Given the description of an element on the screen output the (x, y) to click on. 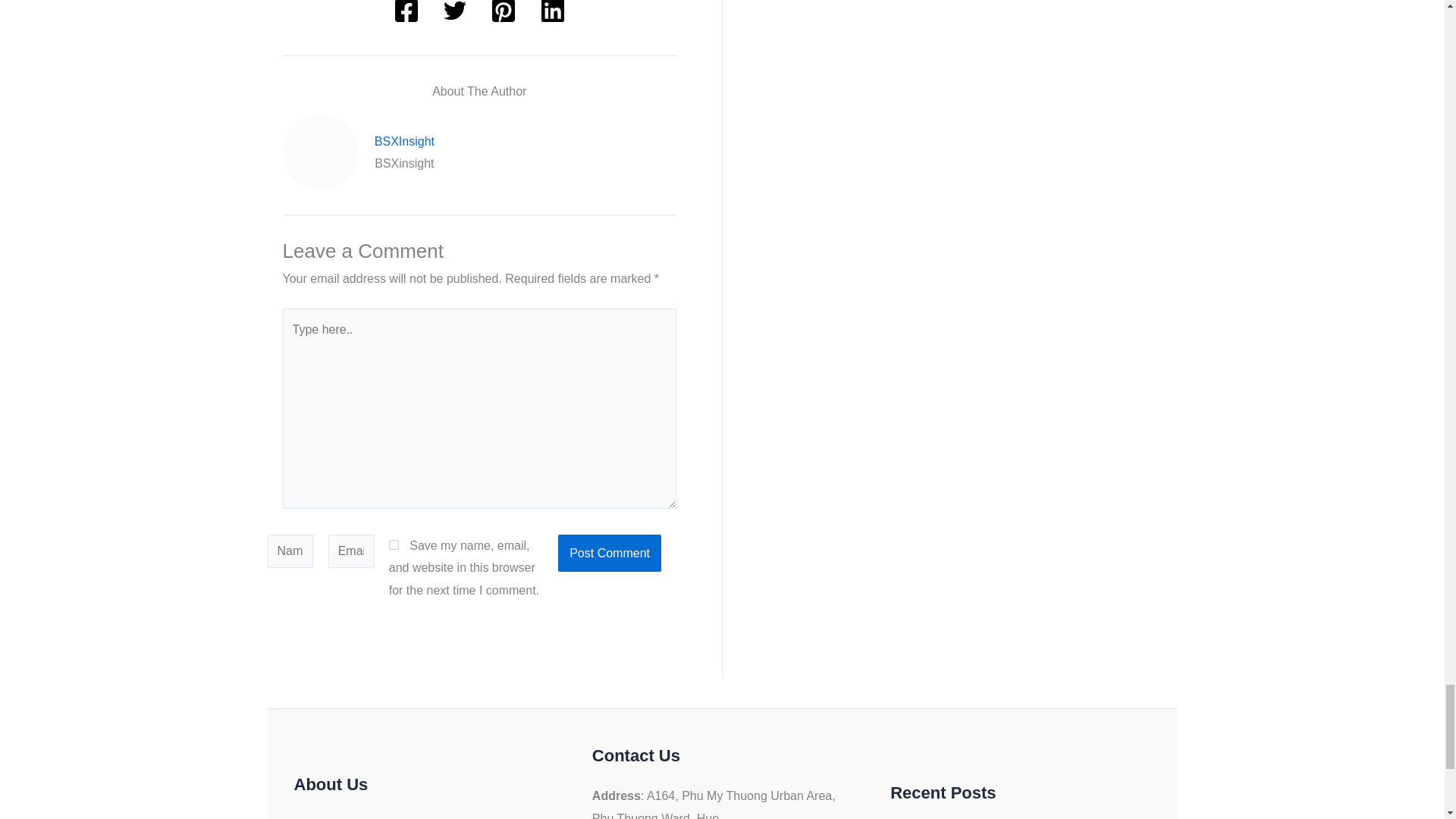
yes (393, 544)
Post Comment (609, 553)
